Given the description of an element on the screen output the (x, y) to click on. 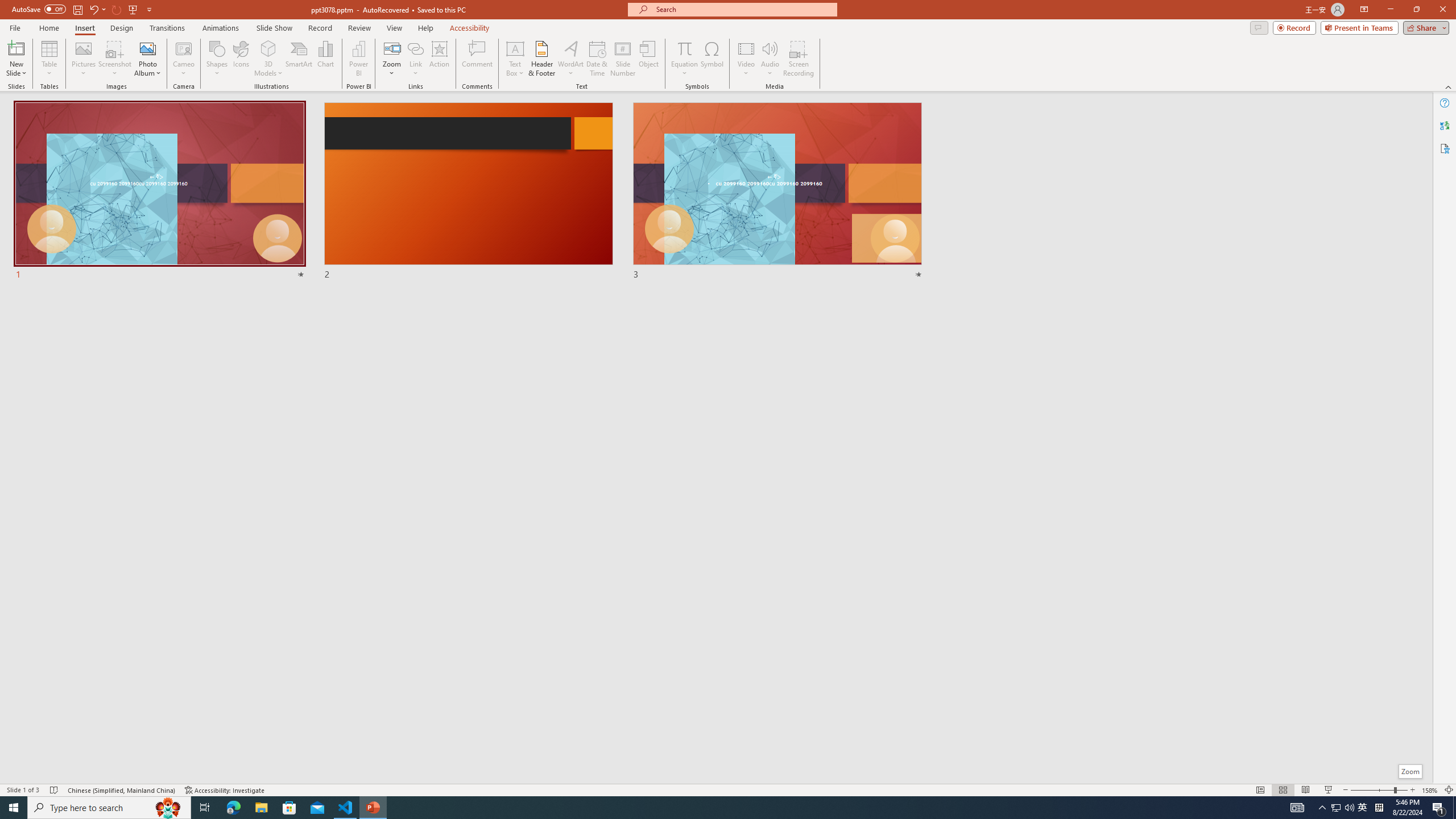
Table (49, 58)
Chart... (325, 58)
WordArt (570, 58)
Video (745, 58)
Date & Time... (596, 58)
Slide Number (622, 58)
